Given the description of an element on the screen output the (x, y) to click on. 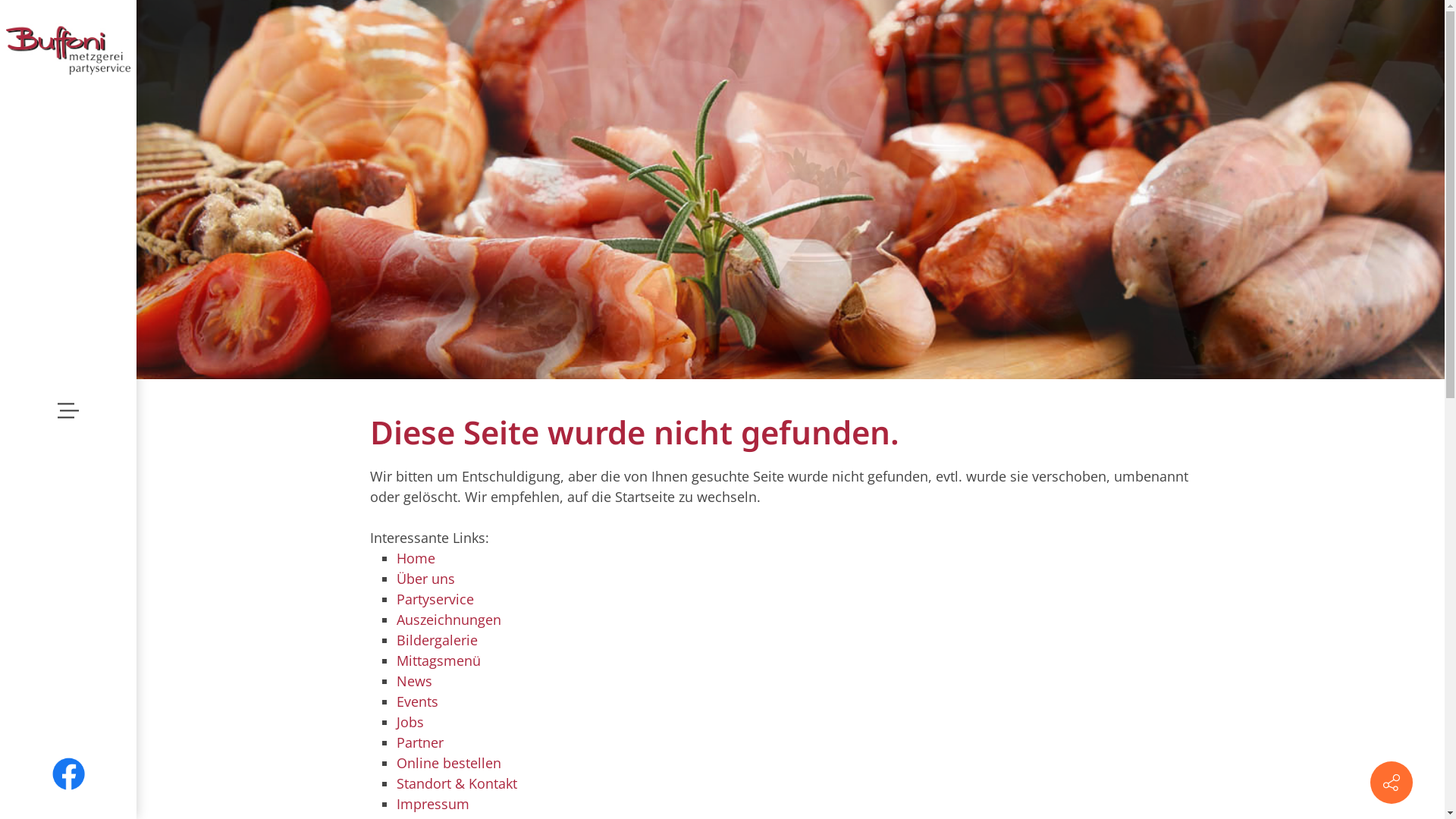
Bildergalerie Element type: text (435, 639)
Partner Element type: text (418, 742)
Auszeichnungen Element type: text (447, 619)
buffoni-metzgerei.ch Element type: hover (68, 48)
Home Element type: text (414, 558)
Impressum Element type: text (431, 803)
Events Element type: text (416, 701)
Jobs Element type: text (409, 721)
Online bestellen Element type: text (447, 762)
News Element type: text (413, 680)
Partyservice Element type: text (434, 598)
Standort & Kontakt Element type: text (455, 783)
